Given the description of an element on the screen output the (x, y) to click on. 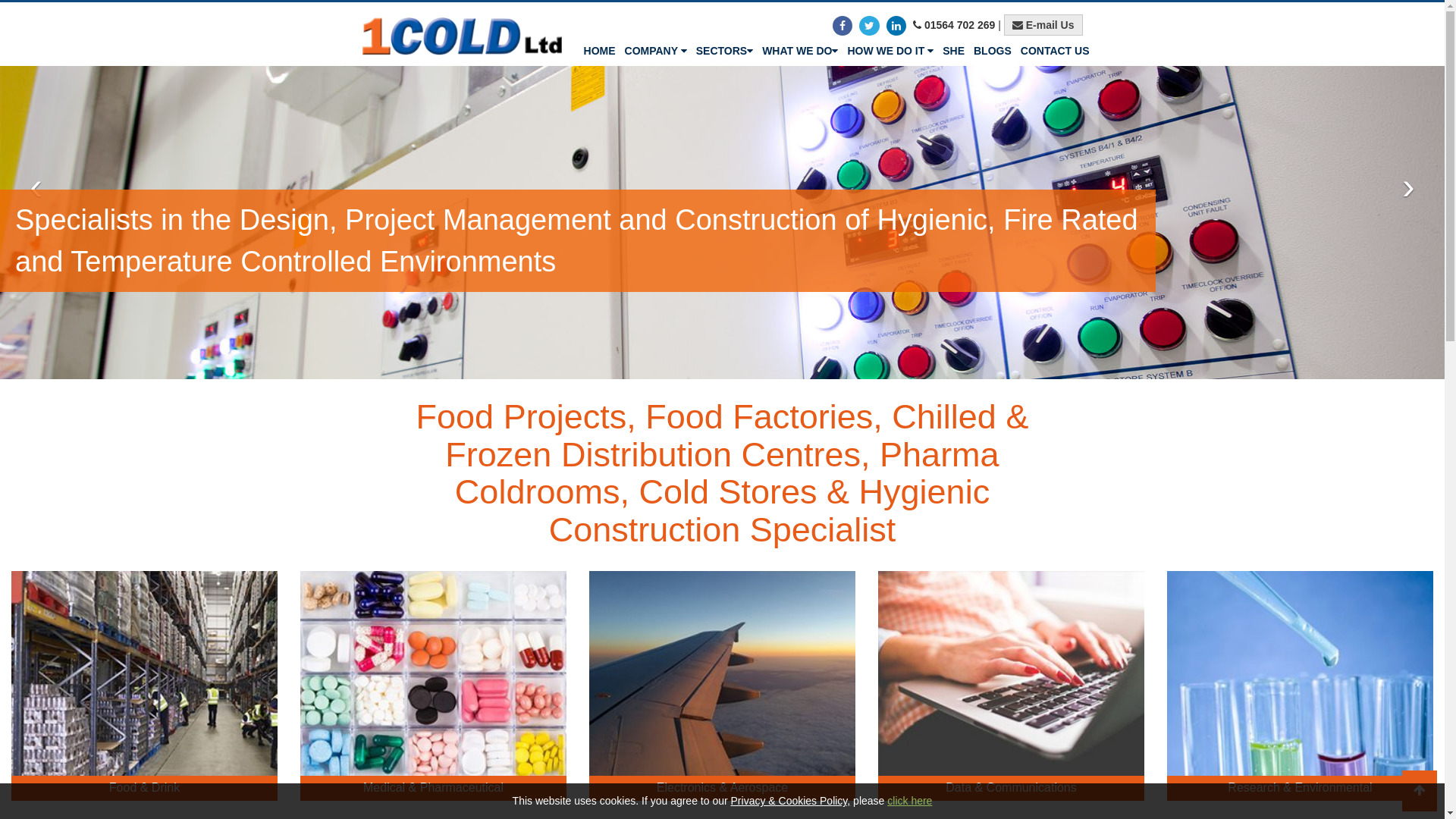
WHAT WE DO Element type: text (799, 50)
SHE Element type: text (953, 50)
COMPANY Element type: text (655, 50)
Privacy & Cookies Policy, Element type: text (790, 800)
Data & Communications Element type: text (1011, 685)
E-mail Us Element type: text (1043, 24)
click here Element type: text (909, 800)
CONTACT US Element type: text (1055, 50)
Medical & Pharmaceutical Element type: text (433, 685)
Electronics & Aerospace Element type: text (722, 685)
BLOGS Element type: text (992, 50)
HOW WE DO IT Element type: text (890, 50)
HOME Element type: text (599, 50)
Food & Drink Element type: text (144, 685)
SECTORS Element type: text (724, 50)
Research & Environmental Element type: text (1300, 685)
